Given the description of an element on the screen output the (x, y) to click on. 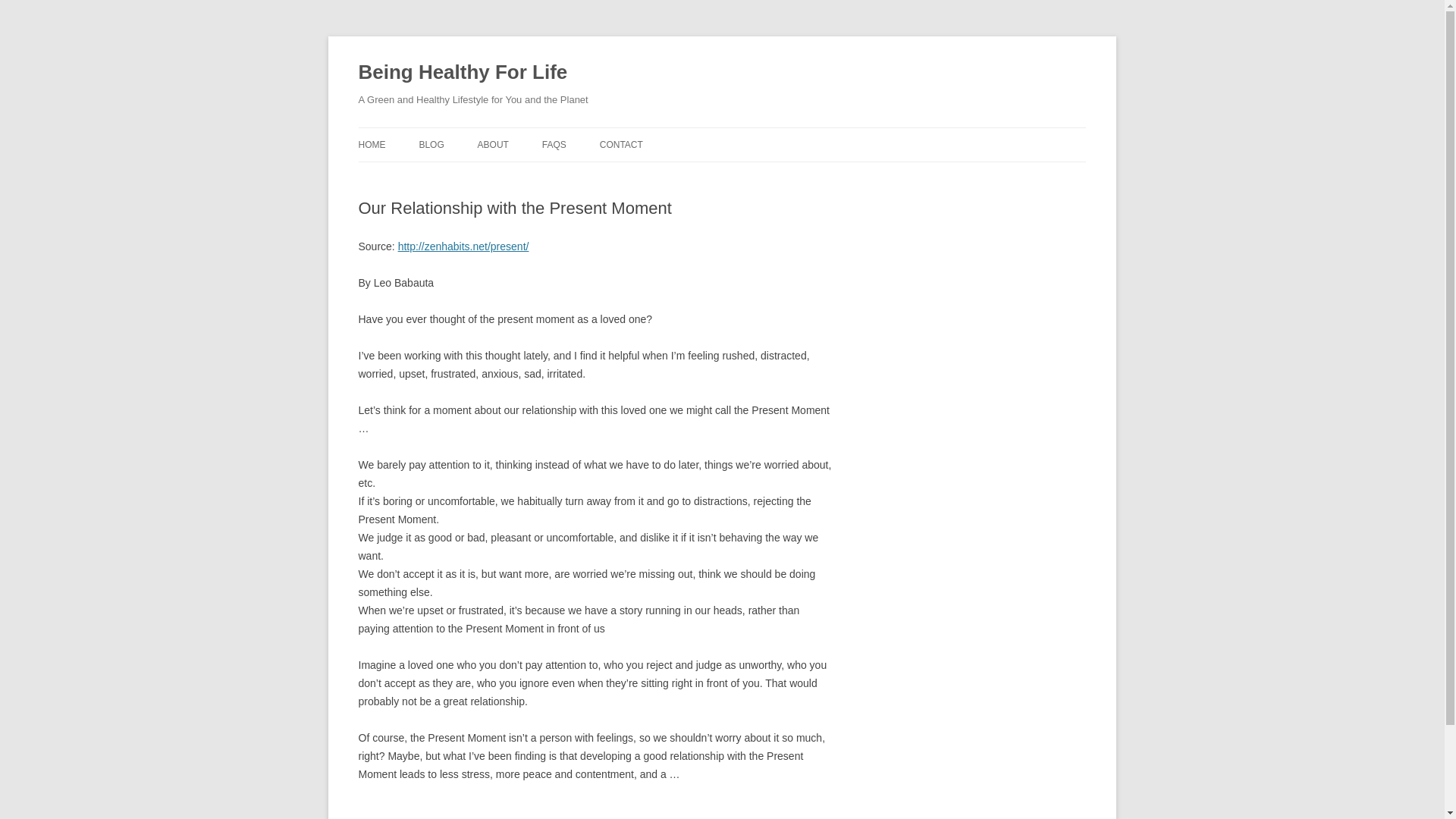
CONTACT (621, 144)
Being Healthy For Life (462, 72)
ABOUT (492, 144)
